Given the description of an element on the screen output the (x, y) to click on. 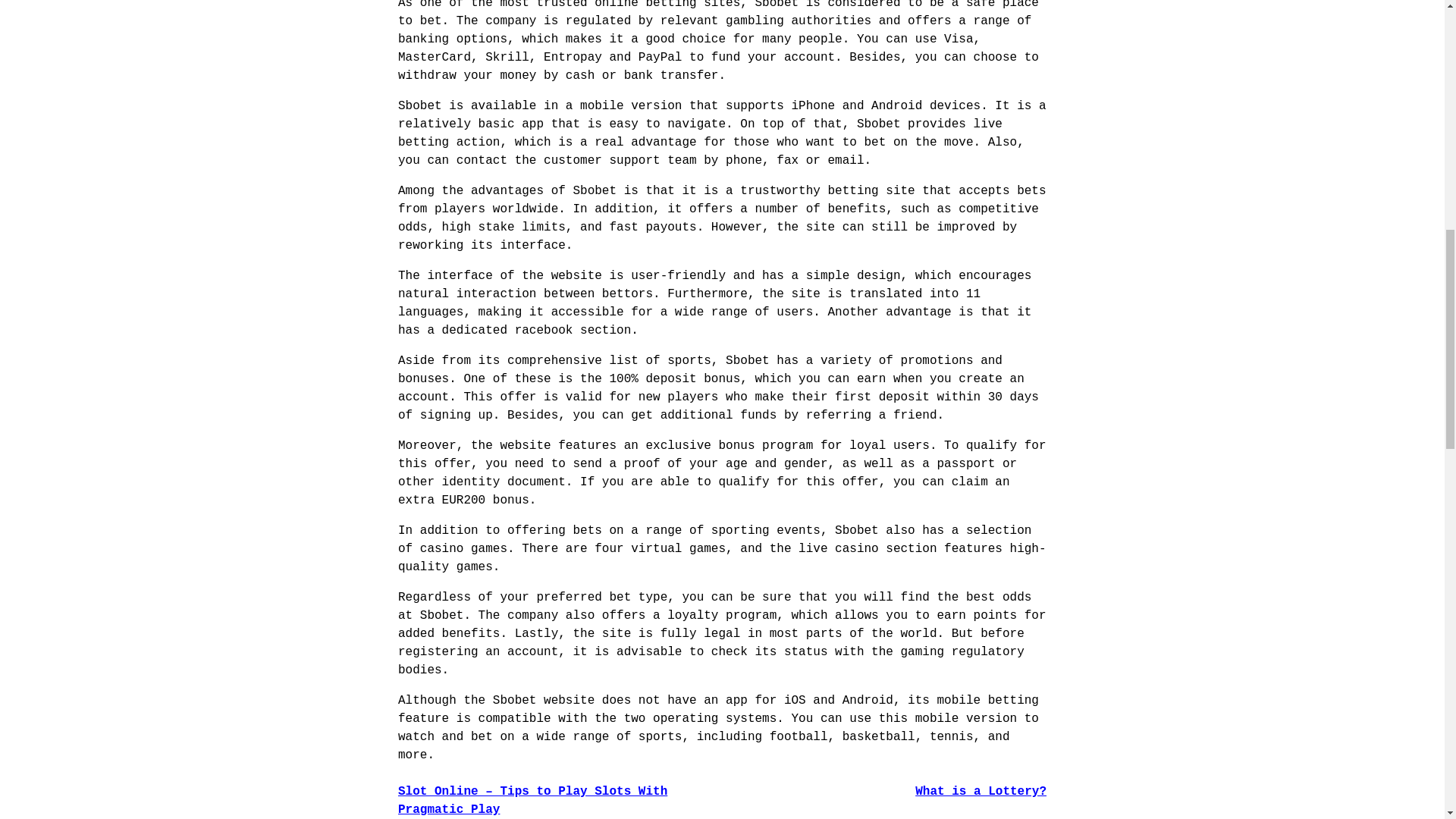
What is a Lottery? (980, 791)
